Given the description of an element on the screen output the (x, y) to click on. 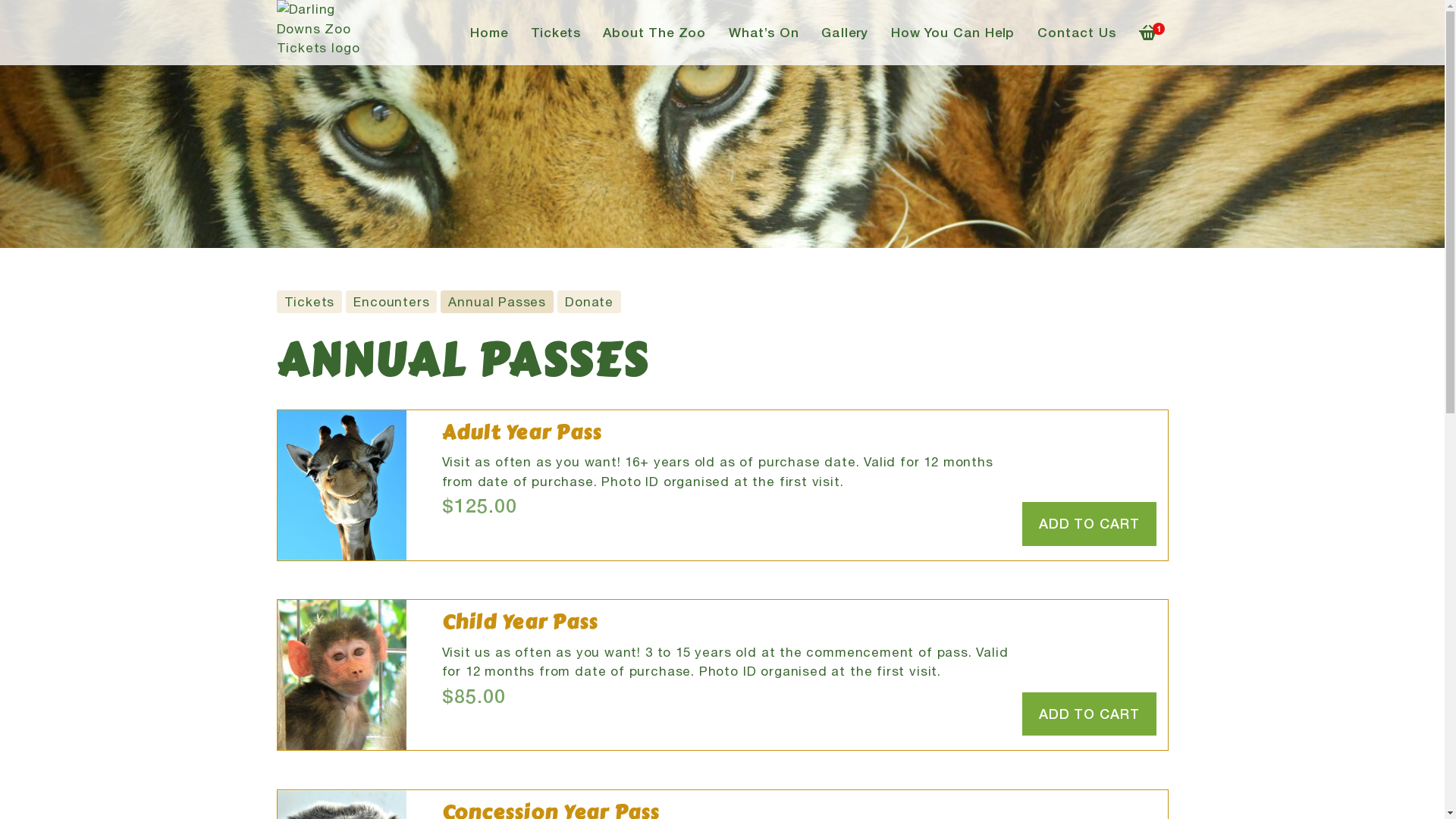
Tickets Element type: text (555, 32)
Contact Us Element type: text (1076, 32)
Home Element type: text (488, 32)
How You Can Help Element type: text (952, 32)
Gallery Element type: text (844, 32)
Donate Element type: text (589, 301)
ADD TO CART Element type: text (1089, 524)
Encounters Element type: text (390, 301)
ADD TO CART Element type: text (1089, 714)
About The Zoo Element type: text (654, 32)
Annual Passes Element type: text (496, 301)
Tickets Element type: text (309, 301)
1 Element type: text (1146, 32)
